Given the description of an element on the screen output the (x, y) to click on. 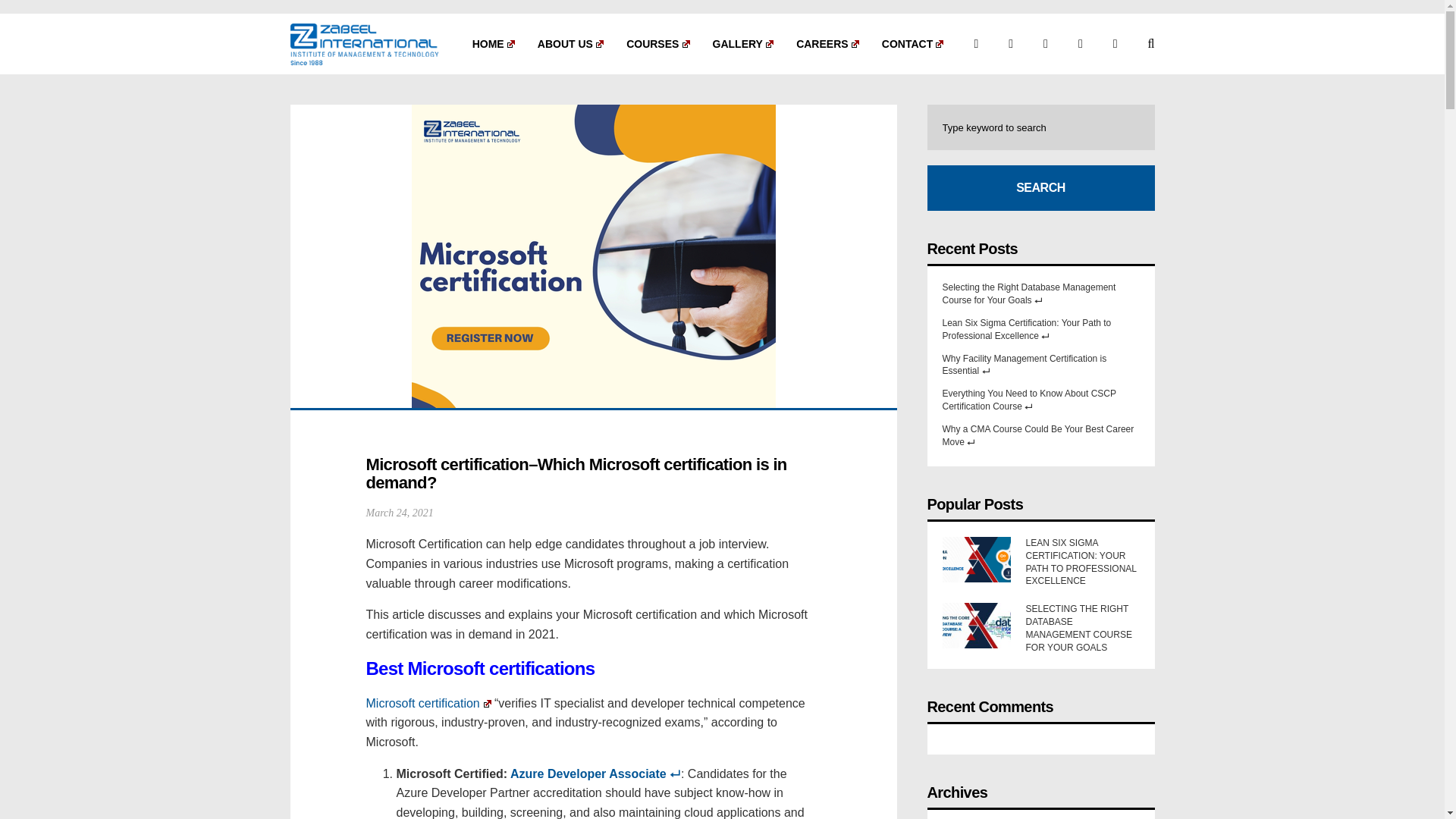
Azure Developer Associate (596, 773)
Search (1040, 187)
Microsoft certification (427, 703)
